Given the description of an element on the screen output the (x, y) to click on. 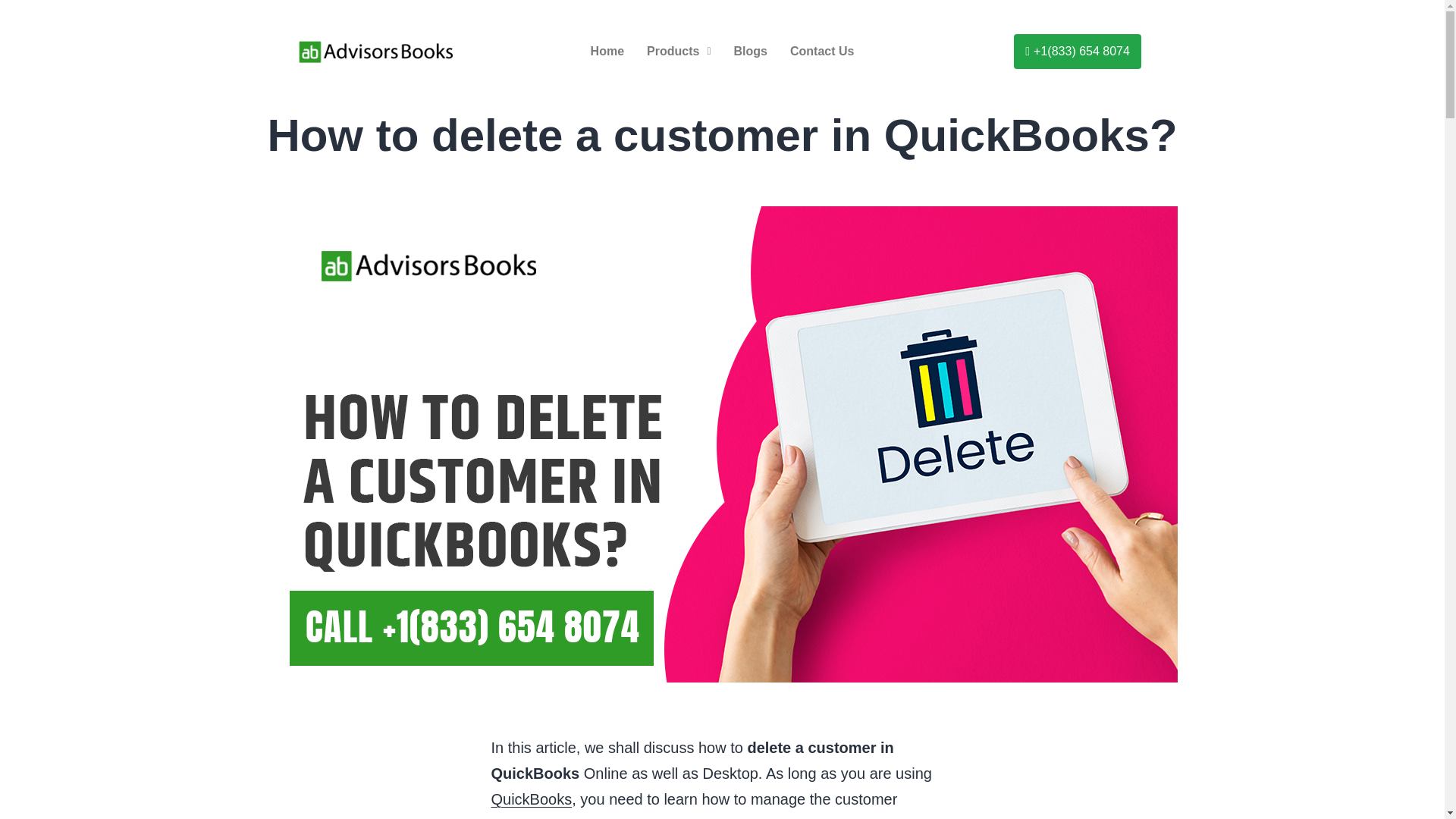
Contact Us (821, 51)
QuickBooks (532, 799)
Home (606, 51)
Products (678, 51)
Blogs (749, 51)
